Given the description of an element on the screen output the (x, y) to click on. 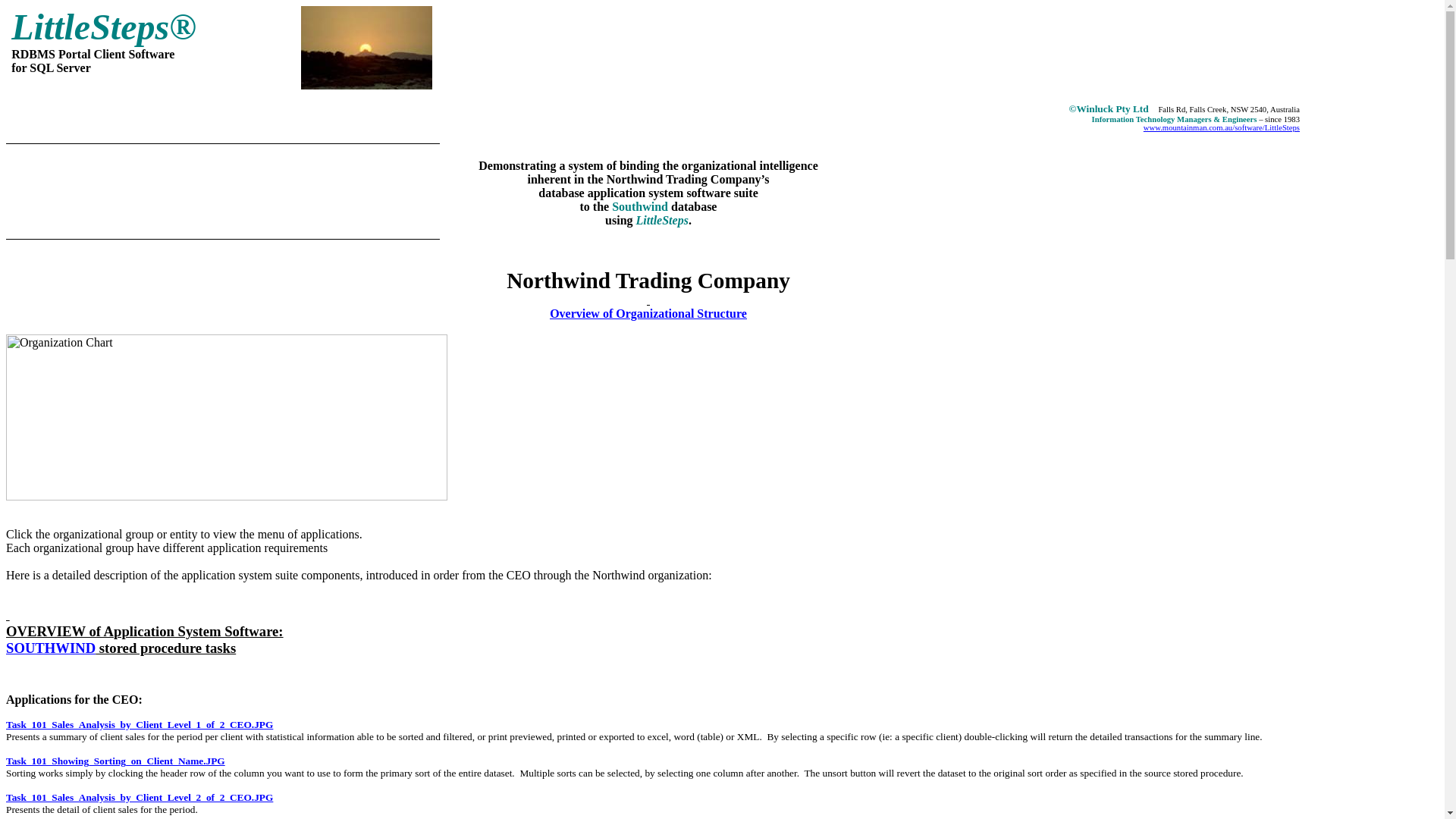
Task_101_Sales_Analysis_by_Client_Level_1_of_2_CEO.JPG Element type: text (139, 724)
Overview of Organizational Structure Element type: text (647, 313)
Task_101_Showing_Sorting_on_Client_Name.JPG Element type: text (115, 760)
Task_101_Sales_Analysis_by_Client_Level_2_of_2_CEO.JPG Element type: text (139, 797)
SOUTHWIND Element type: text (50, 647)
www.mountainman.com.au/software/LittleSteps Element type: text (1221, 127)
